Given the description of an element on the screen output the (x, y) to click on. 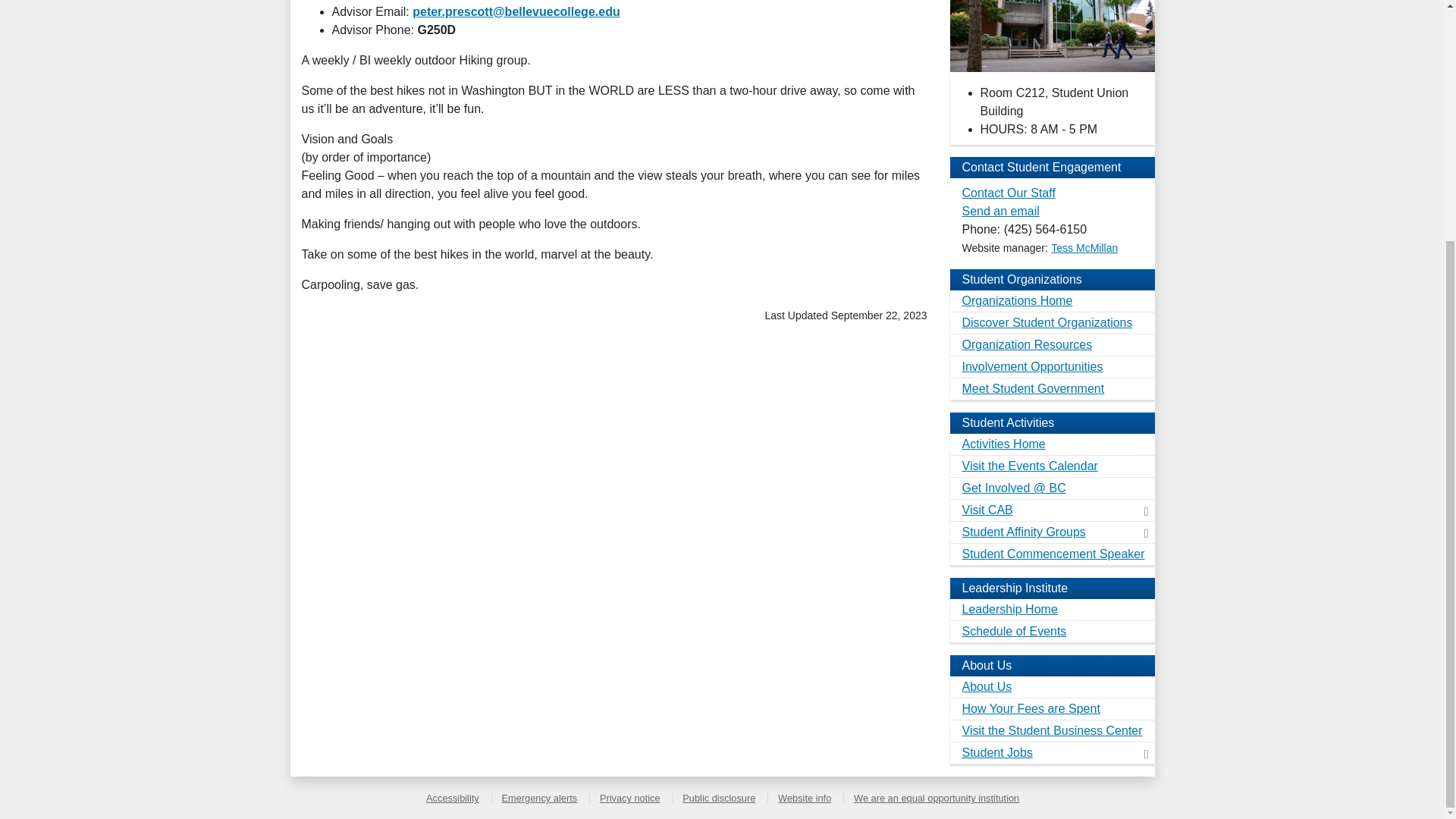
Student Affinity Groups (1051, 532)
Organization Resources (1051, 345)
Tess McMillan (1084, 246)
Involvement Opportunities (1051, 367)
Contact Our Staff (1007, 192)
Activities Home (1051, 444)
Expand undefined Submenu (1146, 530)
C Building Door (1051, 36)
Meet Student Government (1051, 389)
Discover Student Organizations (1051, 323)
Visit CAB (1051, 510)
Send an email (999, 210)
Expand undefined Submenu (1146, 508)
Visit the Events Calendar (1051, 466)
Organizations Home (1051, 301)
